Given the description of an element on the screen output the (x, y) to click on. 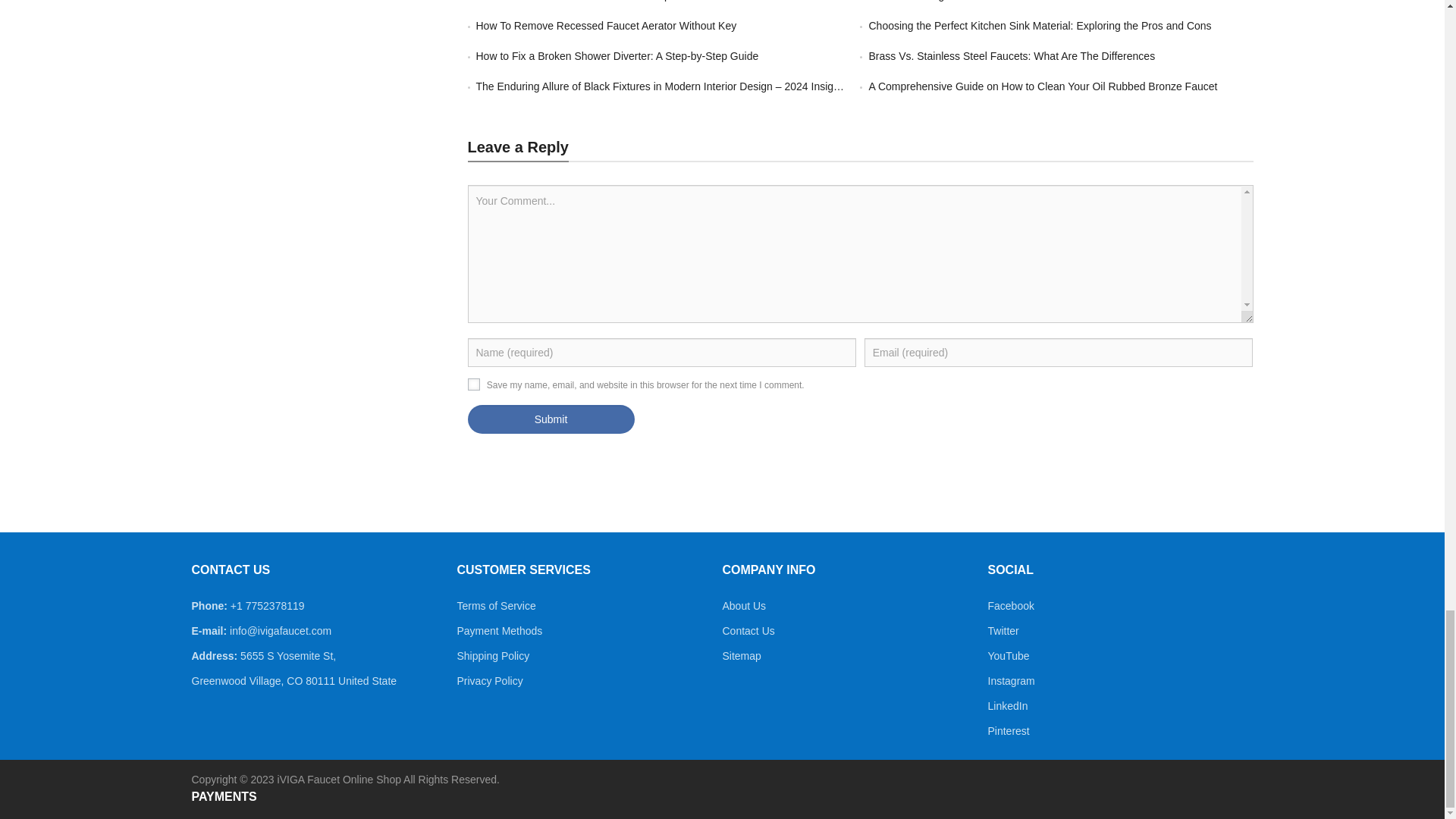
yes (473, 384)
Submit (550, 419)
How To Remove Recessed Faucet Aerator Without Key (606, 25)
